Given the description of an element on the screen output the (x, y) to click on. 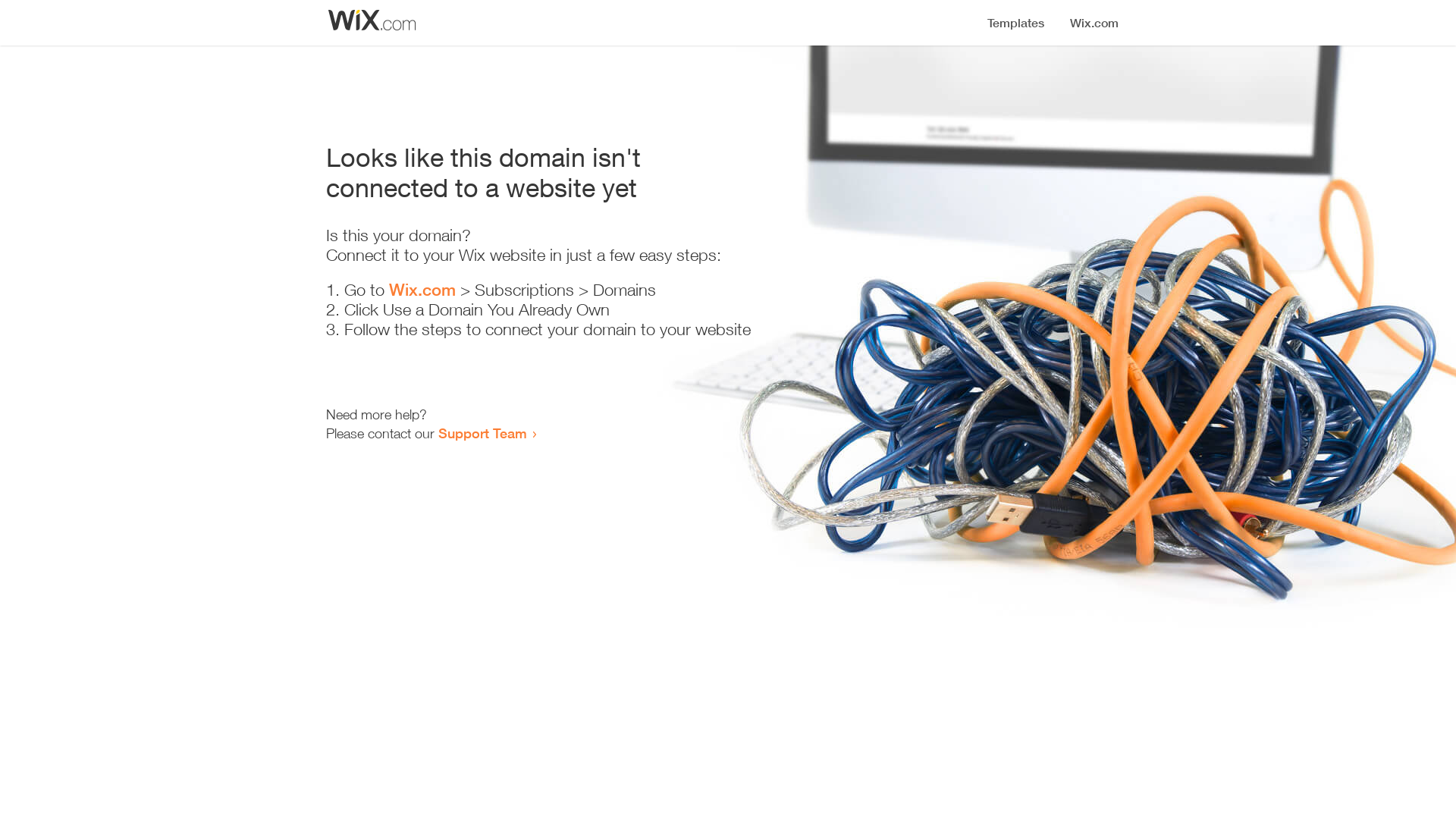
Wix.com Element type: text (422, 289)
Support Team Element type: text (482, 432)
